Given the description of an element on the screen output the (x, y) to click on. 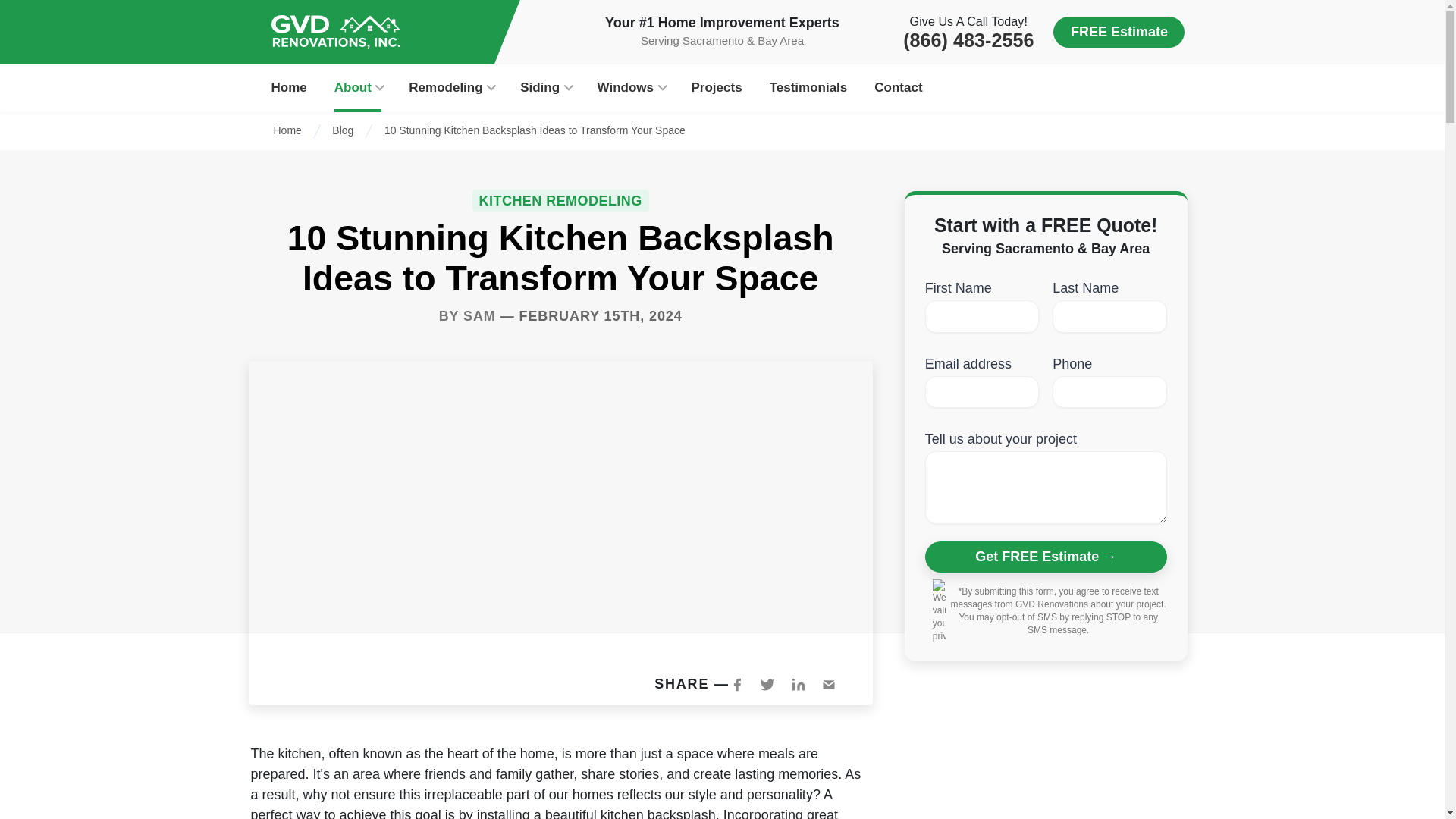
FREE Estimate (1118, 31)
About (357, 88)
Home Remodeling (451, 88)
Projects (716, 88)
Contact (898, 88)
About Us  (357, 88)
FREE Estimate (1118, 31)
GVD Renovations Logo (335, 31)
Siding Installation (544, 88)
Siding (544, 88)
Remodeling (451, 88)
Testimonials (808, 88)
GVD Renovations Logo (335, 31)
Windows (629, 88)
